Given the description of an element on the screen output the (x, y) to click on. 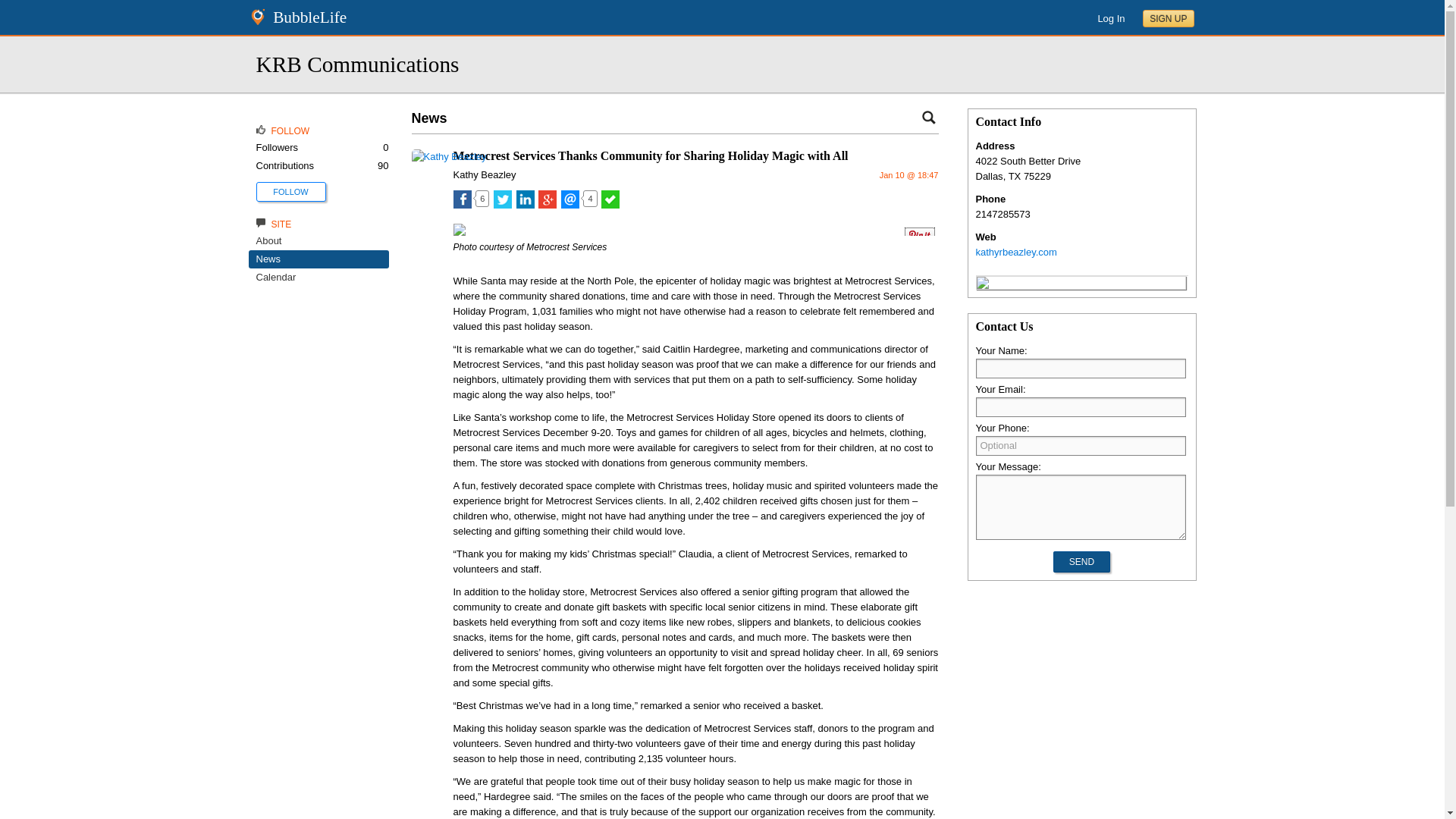
SIGN UP (1167, 18)
Calendar (276, 276)
Send (1080, 561)
News (268, 258)
View profile (484, 174)
KRB Communications (357, 63)
FOLLOW (290, 191)
Search (928, 117)
kathyrbeazley.com (1016, 251)
Log In (1110, 18)
Kathy Beazley (484, 174)
KRB Communications (357, 63)
Already have a BubbleLife account? (1110, 18)
